Given the description of an element on the screen output the (x, y) to click on. 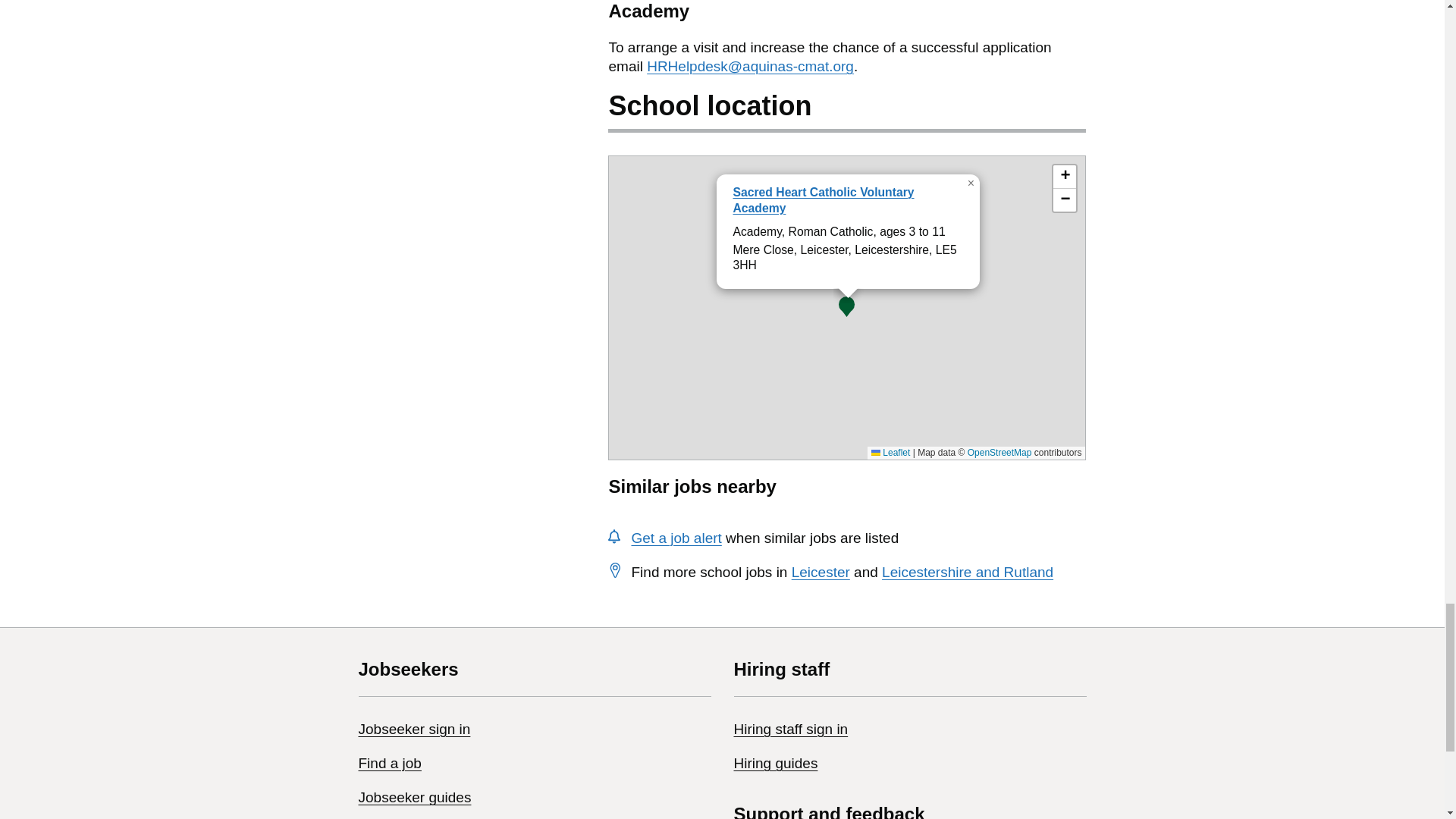
Find a job (389, 763)
OpenStreetMap (1000, 452)
Zoom out (1063, 200)
Jobseeker sign in (414, 729)
Jobseeker guides (414, 797)
Leaflet (890, 452)
Zoom in (1063, 177)
Leicester (821, 571)
Hiring staff sign in (790, 729)
Sacred Heart Catholic Voluntary Academy (823, 199)
